Given the description of an element on the screen output the (x, y) to click on. 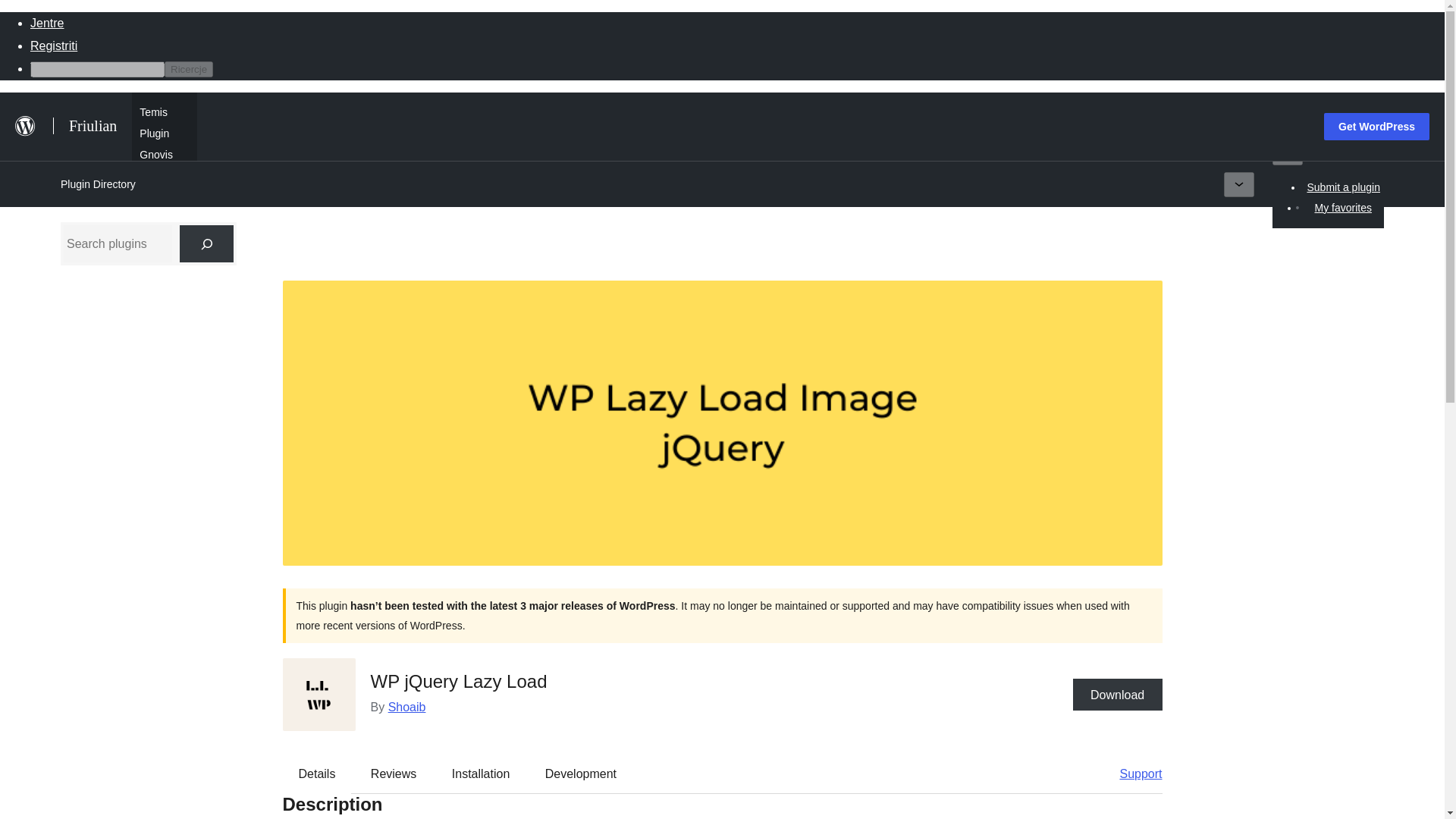
Ricercje (188, 68)
Get WordPress (1376, 126)
A rivuart di (164, 173)
Download (1117, 694)
Installation (480, 773)
Reviews (392, 773)
Submit a plugin (1343, 187)
Registriti (53, 45)
Development (580, 773)
Support (1132, 773)
My favorites (1342, 207)
Shoaib (407, 707)
Ricercje (188, 68)
Details (316, 773)
Plugin Directory (97, 184)
